Given the description of an element on the screen output the (x, y) to click on. 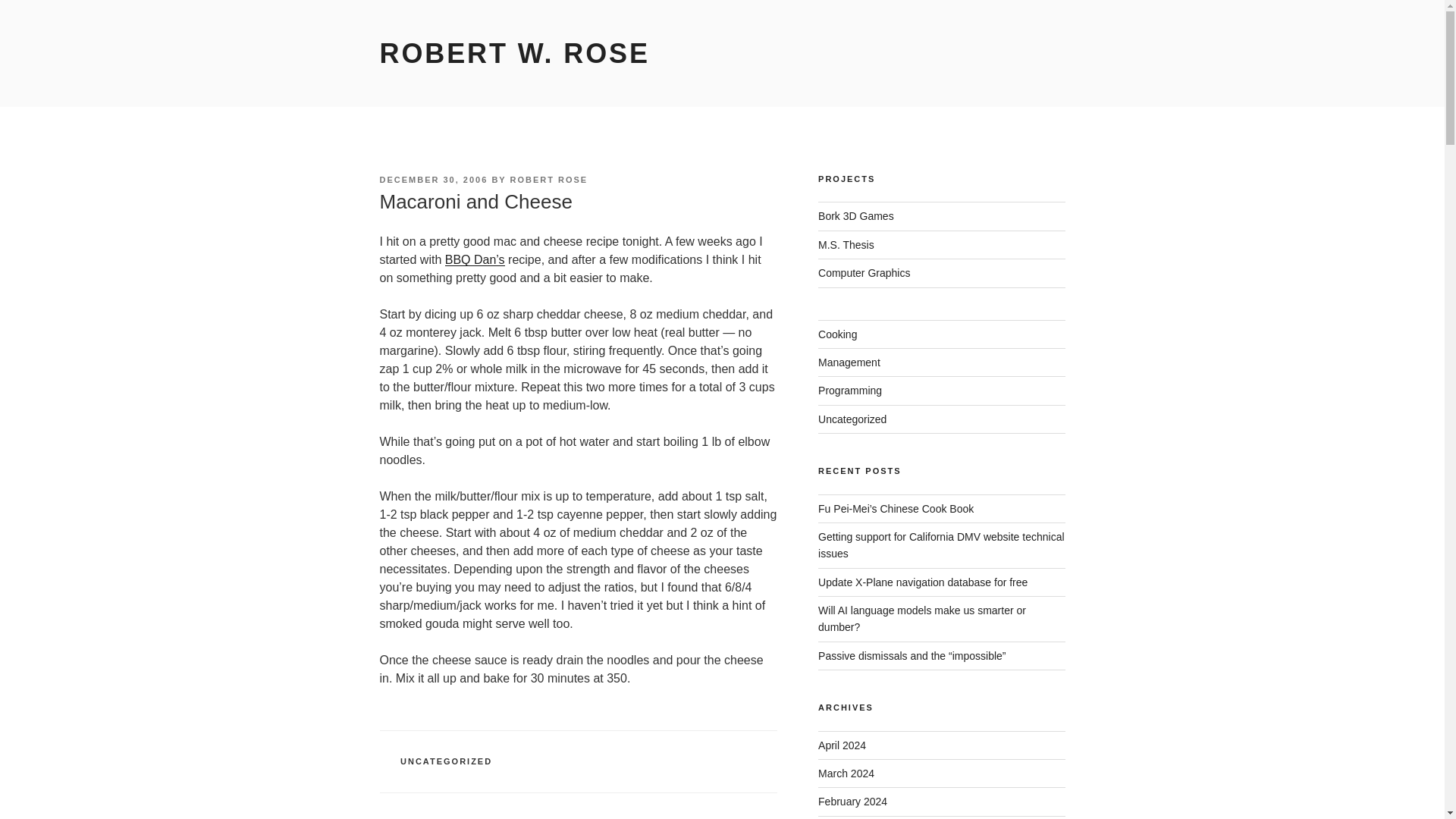
February 2024 (852, 801)
UNCATEGORIZED (446, 760)
Bork 3D Games (855, 215)
ROBERT ROSE (549, 179)
Computer Graphics (864, 272)
M.S. Thesis (846, 244)
Management (849, 362)
ROBERT W. ROSE (513, 52)
Update X-Plane navigation database for free (922, 582)
Will AI language models make us smarter or dumber? (922, 618)
